Given the description of an element on the screen output the (x, y) to click on. 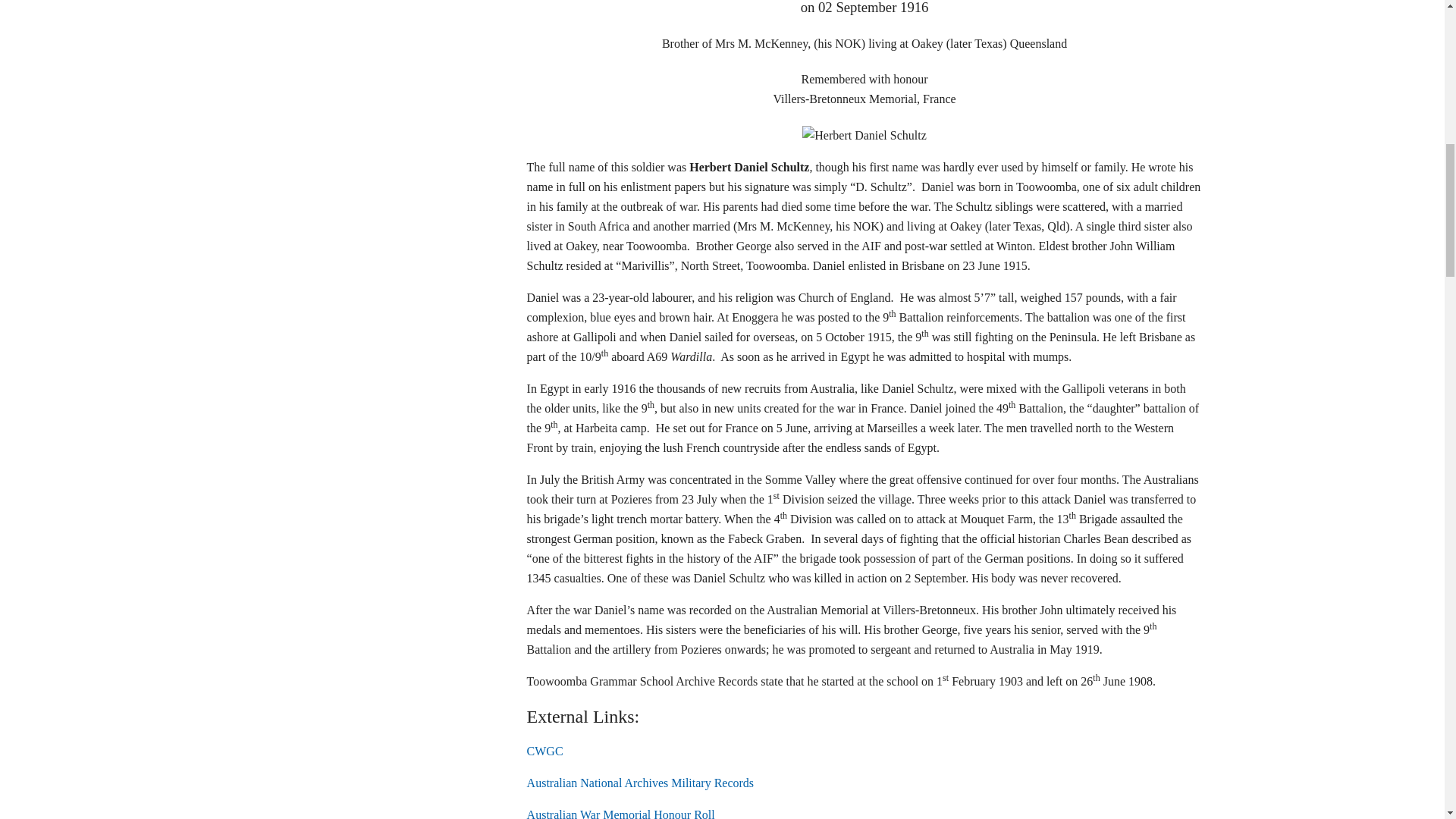
Australian National Archives Military Records (640, 782)
Australian War Memorial Honour Roll (620, 813)
CWGC (545, 750)
